Given the description of an element on the screen output the (x, y) to click on. 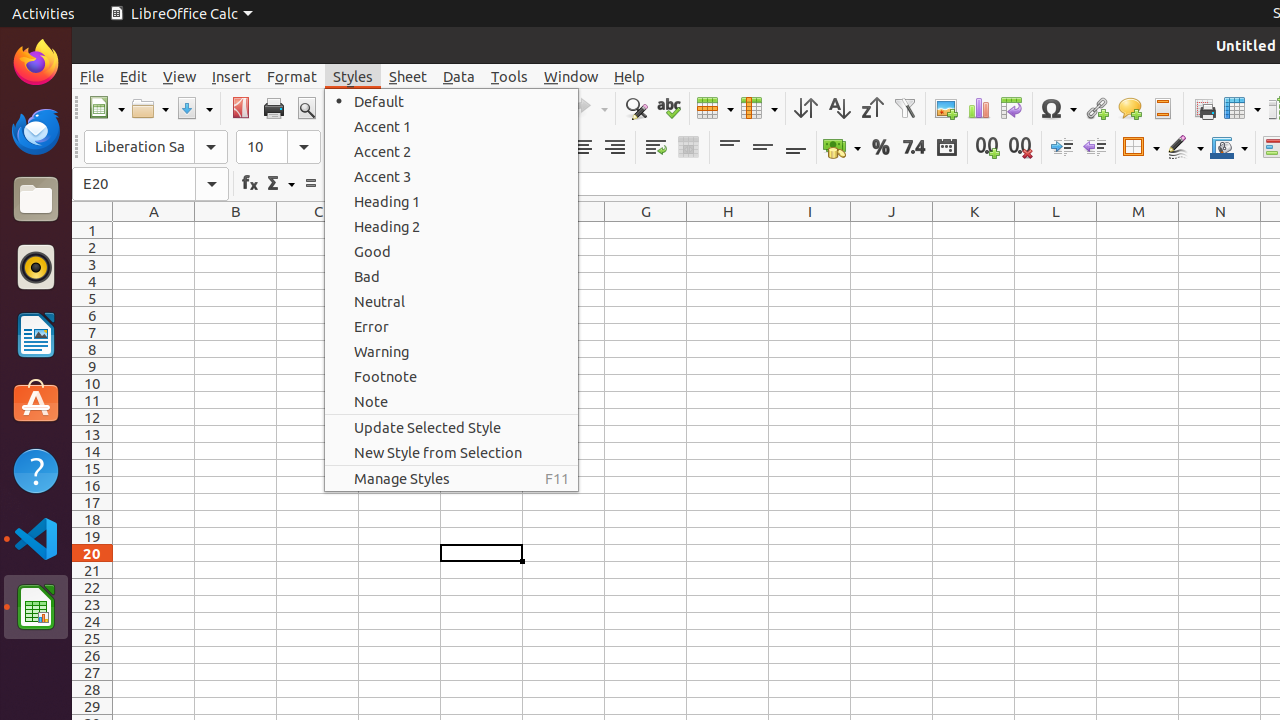
Align Top Element type: push-button (729, 147)
Headers and Footers Element type: push-button (1162, 108)
Chart Element type: push-button (978, 108)
Accent 2 Element type: radio-menu-item (451, 151)
M1 Element type: table-cell (1138, 230)
